Given the description of an element on the screen output the (x, y) to click on. 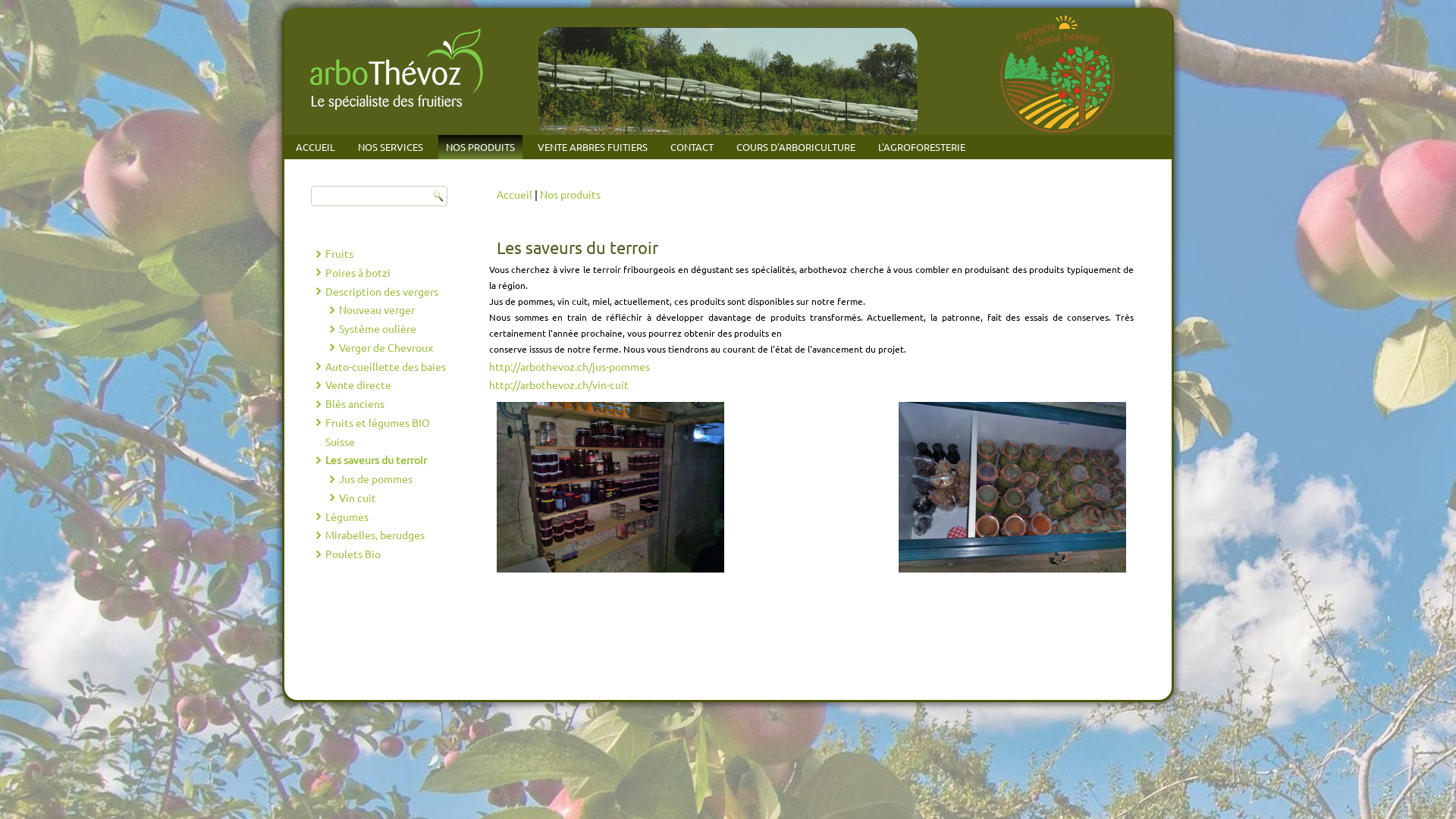
COURS D'ARBORICULTURE Element type: text (795, 146)
Fruits Element type: text (338, 253)
Vin cuit Element type: text (357, 497)
Description des vergers Element type: text (380, 290)
NOS SERVICES Element type: text (390, 146)
VENTE ARBRES FUITIERS Element type: text (592, 146)
ACCUEIL Element type: text (315, 146)
Mirabelles, berudges Element type: text (373, 534)
CONTACT Element type: text (691, 146)
Auto-cueillette des baies Element type: text (384, 366)
Verger de Chevroux Element type: text (385, 347)
Nos produits Element type: text (569, 193)
Les saveurs du terroir Element type: text (375, 459)
Accueil Element type: text (514, 193)
NOS PRODUITS Element type: text (480, 146)
Vente directe Element type: text (357, 384)
L'AGROFORESTERIE Element type: text (921, 146)
http://arbothevoz.ch/jus-pommes Element type: text (569, 366)
Jus de pommes Element type: text (375, 478)
Poulets Bio Element type: text (351, 553)
Nouveau verger Element type: text (376, 309)
http://arbothevoz.ch/vin-cuit Element type: text (558, 384)
